Given the description of an element on the screen output the (x, y) to click on. 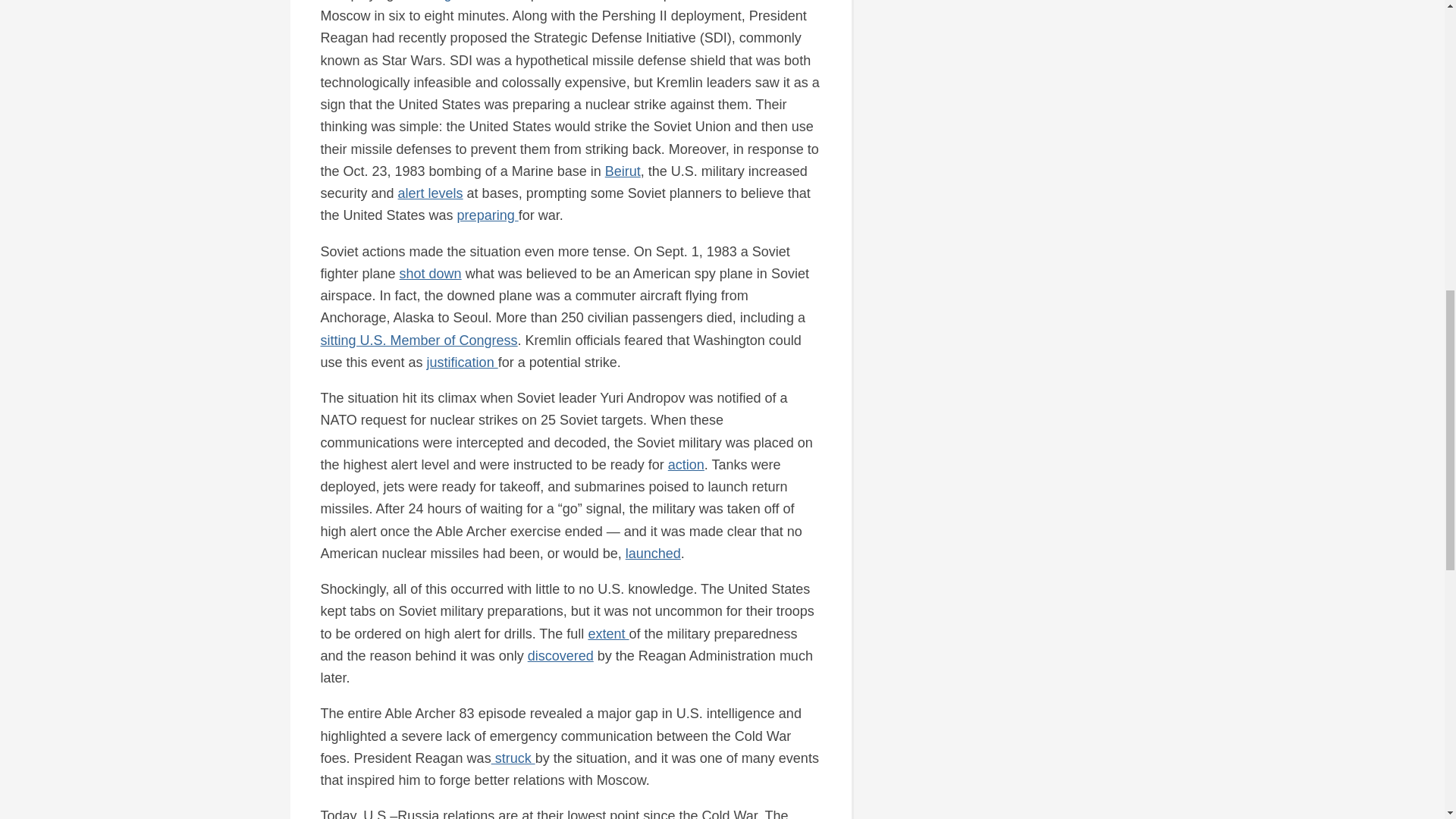
alert levels (430, 192)
preparing (487, 215)
shot down (429, 273)
Beirut (622, 171)
Pershing II (432, 0)
